Given the description of an element on the screen output the (x, y) to click on. 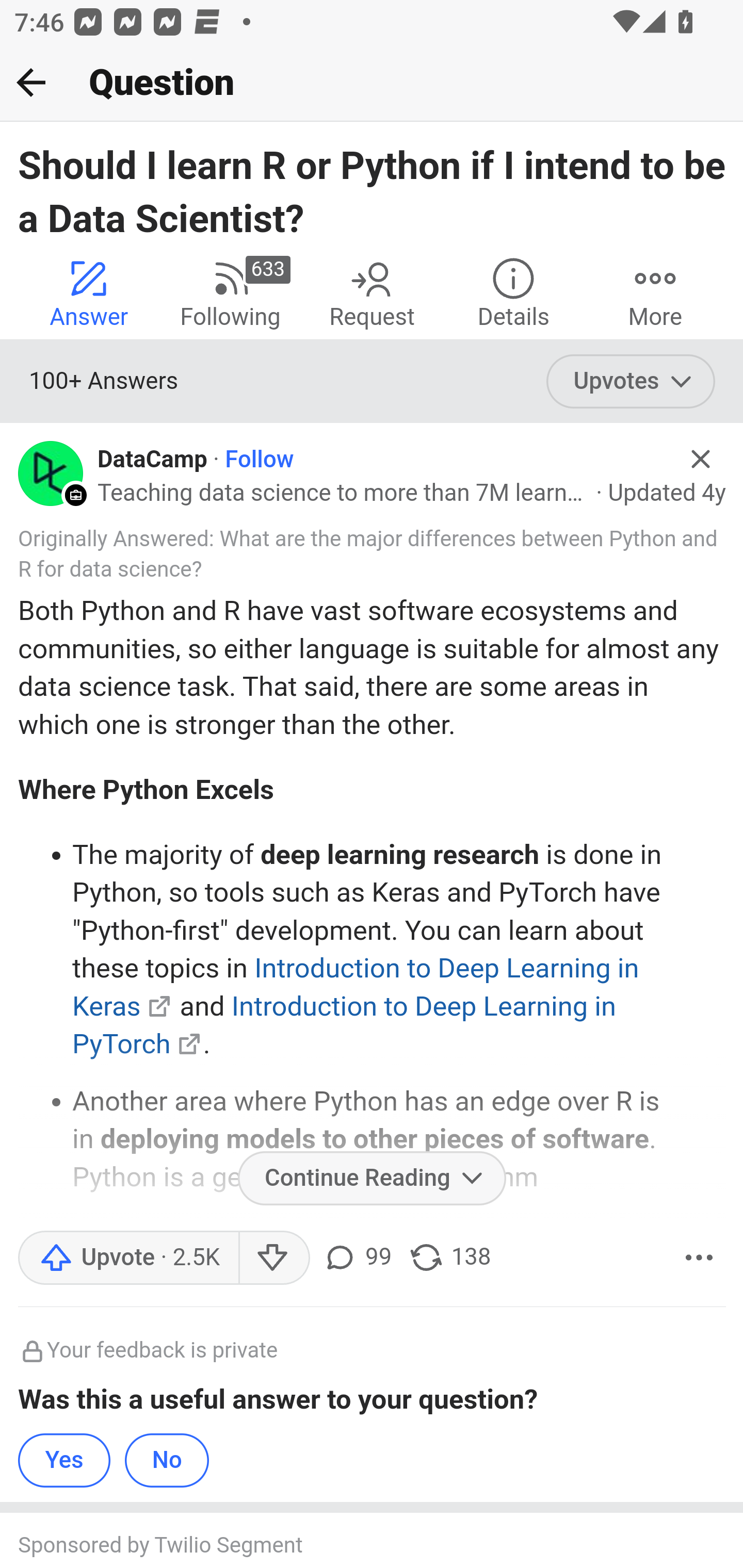
Back Question (371, 82)
Back (30, 82)
Answer (88, 292)
633 Following (230, 292)
Request (371, 292)
Details (513, 292)
More (655, 292)
Upvotes (630, 381)
Hide (700, 459)
DataCamp (152, 459)
Follow (258, 459)
Updated 4y Updated  4 y (667, 493)
Introduction to Deep Learning in Keras (356, 986)
Introduction to Deep Learning in PyTorch (344, 1023)
Continue Reading (371, 1177)
Upvote (127, 1257)
Downvote (273, 1257)
99 comments (356, 1257)
138 shares (449, 1257)
More (699, 1257)
Yes (64, 1459)
No (167, 1459)
Sponsored by Twilio Segment (352, 1546)
